Given the description of an element on the screen output the (x, y) to click on. 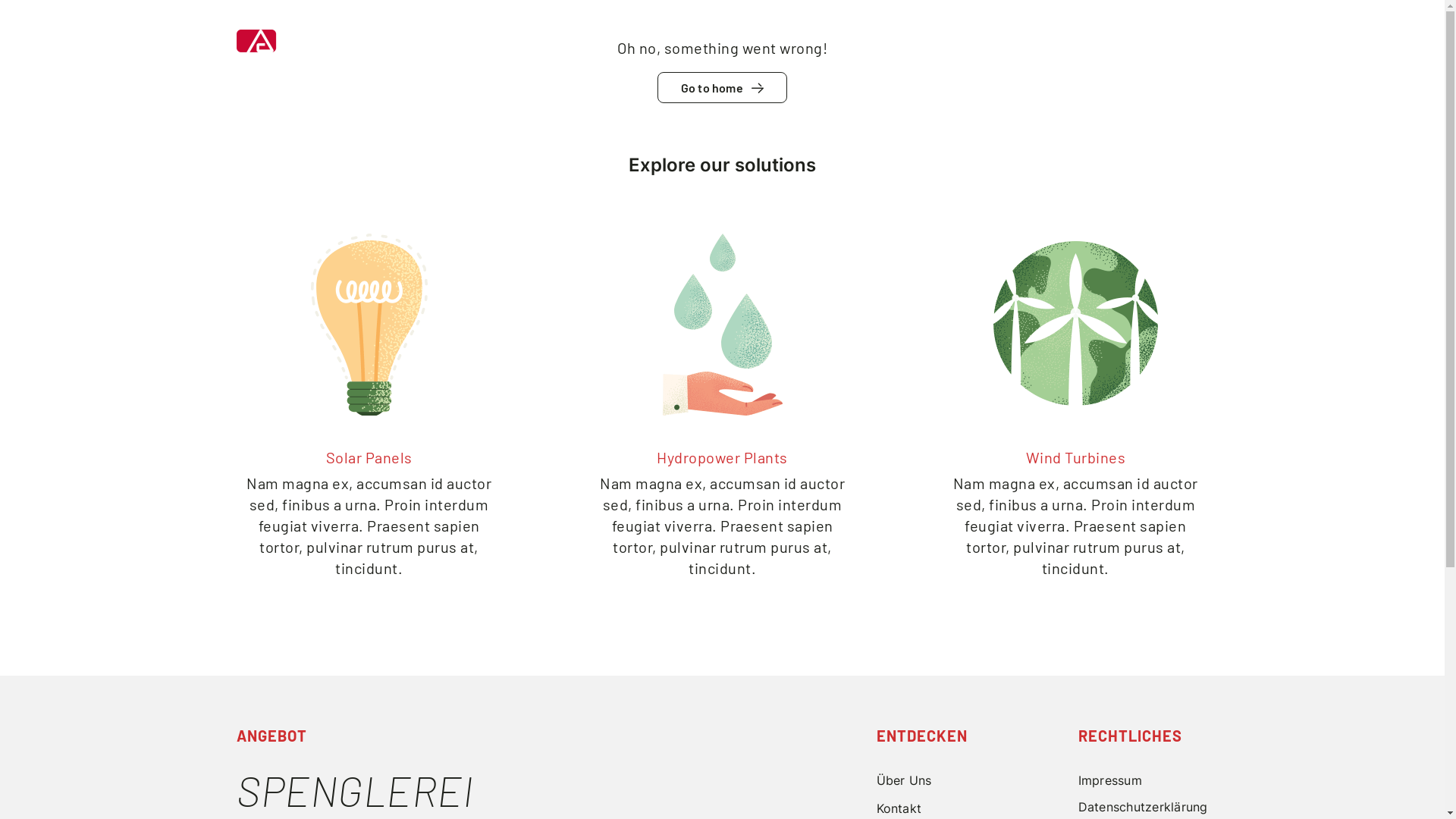
Impressum Element type: text (1143, 780)
Go to home Element type: text (722, 87)
